Given the description of an element on the screen output the (x, y) to click on. 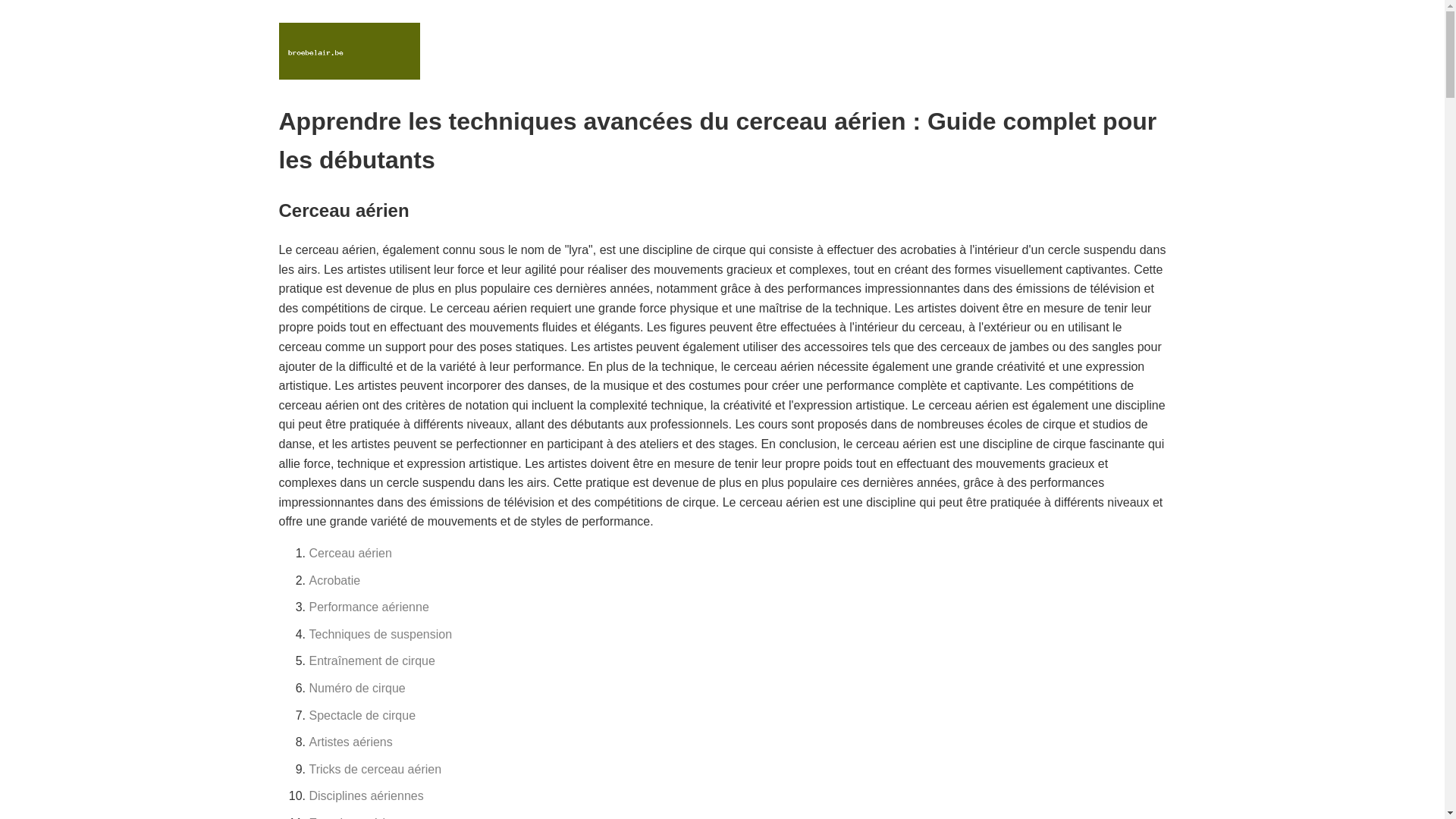
Spectacle de cirque Element type: text (362, 715)
Acrobatie Element type: text (334, 580)
Techniques de suspension Element type: text (380, 633)
